Given the description of an element on the screen output the (x, y) to click on. 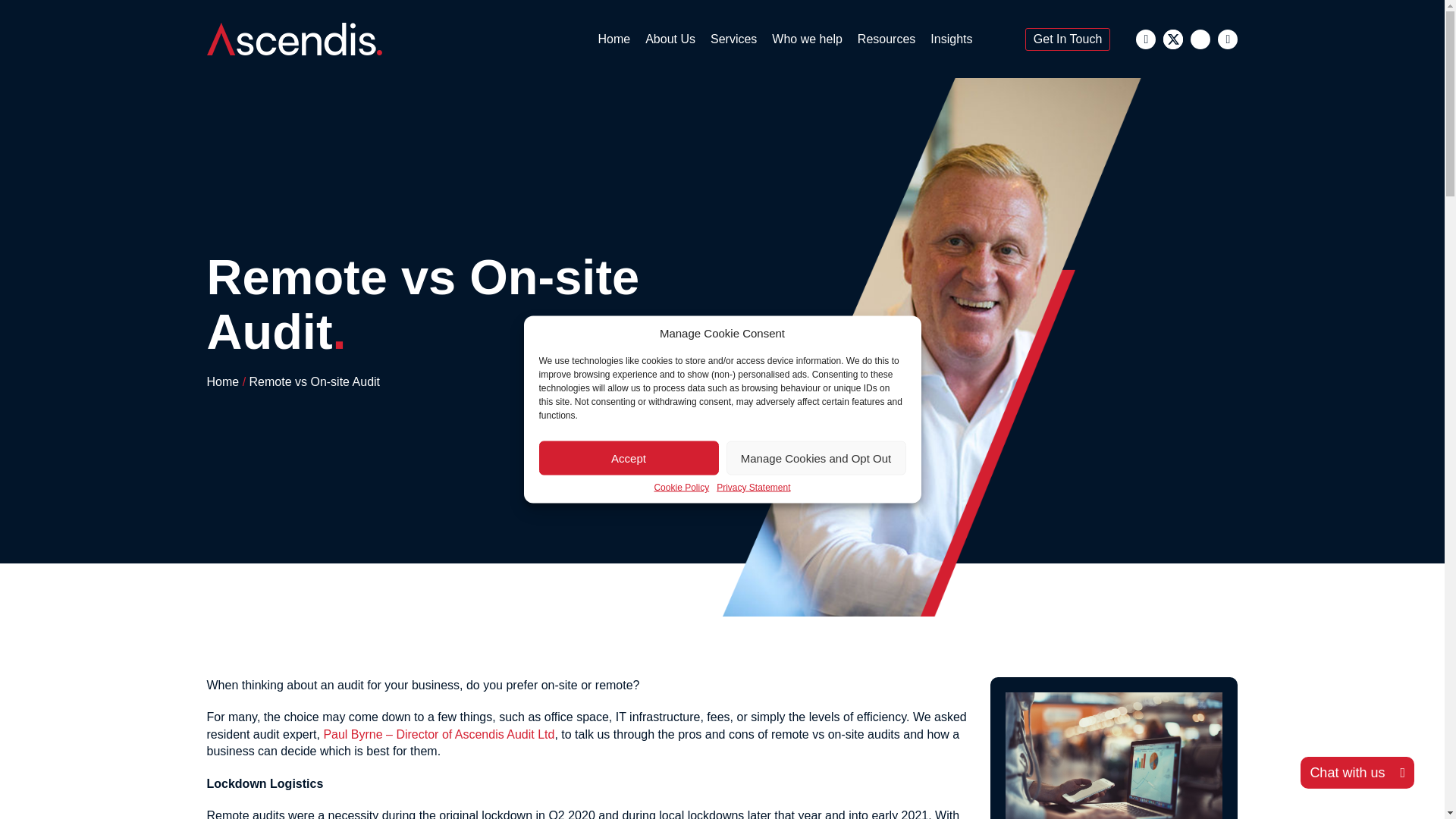
Cookie Policy (681, 486)
Privacy Statement (753, 486)
Services (733, 39)
Accept (627, 458)
Manage Cookies and Opt Out (815, 458)
About Us (670, 39)
Home (613, 39)
